Given the description of an element on the screen output the (x, y) to click on. 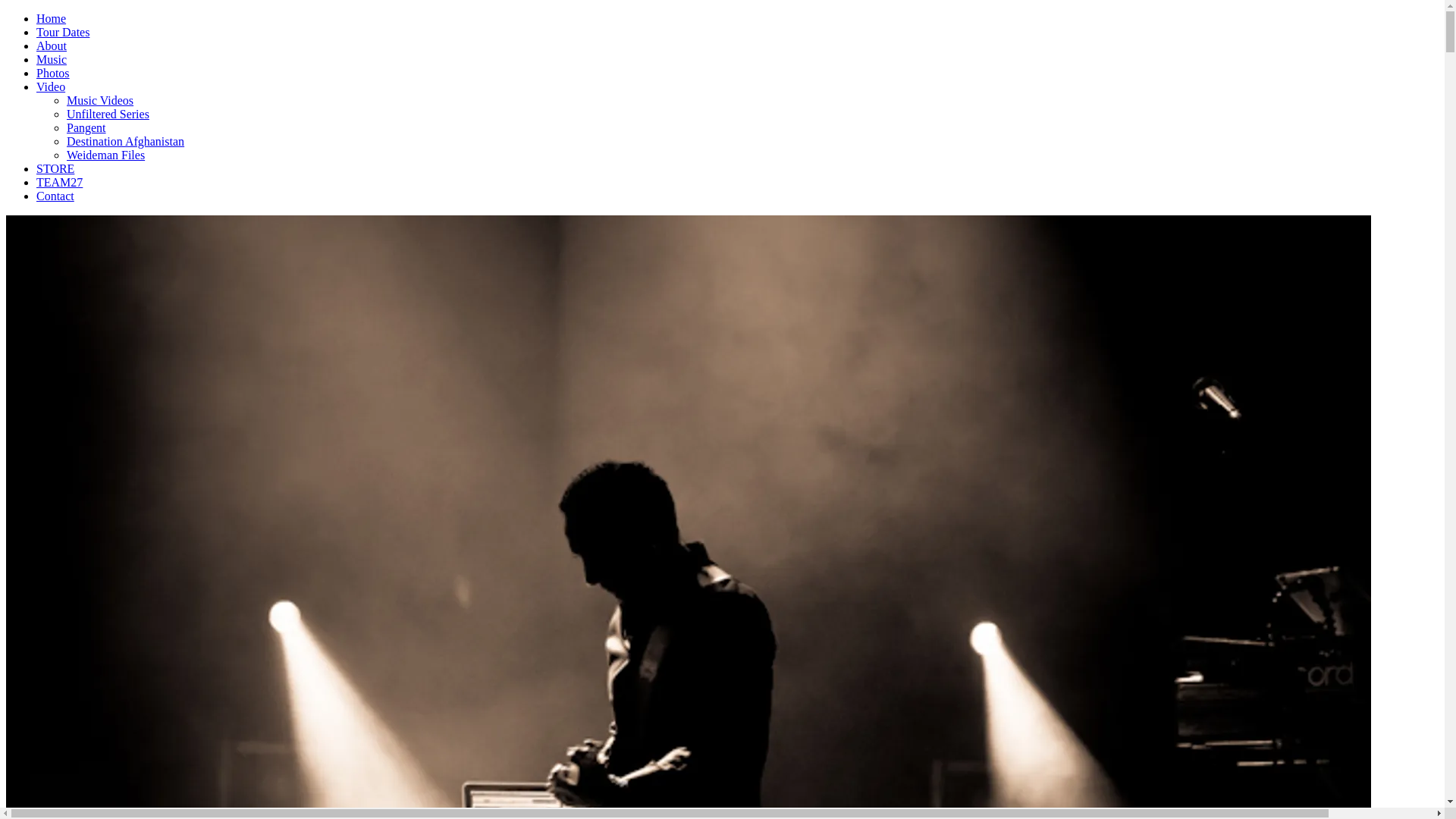
Pangent Element type: text (86, 127)
Music Element type: text (51, 59)
Unfiltered Series Element type: text (107, 113)
Photos Element type: text (52, 72)
Home Element type: text (50, 18)
Video Element type: text (50, 86)
Tour Dates Element type: text (62, 31)
About Element type: text (51, 45)
Contact Element type: text (55, 195)
Destination Afghanistan Element type: text (125, 140)
STORE Element type: text (55, 168)
Weideman Files Element type: text (105, 154)
Music Videos Element type: text (99, 100)
TEAM27 Element type: text (59, 181)
